Given the description of an element on the screen output the (x, y) to click on. 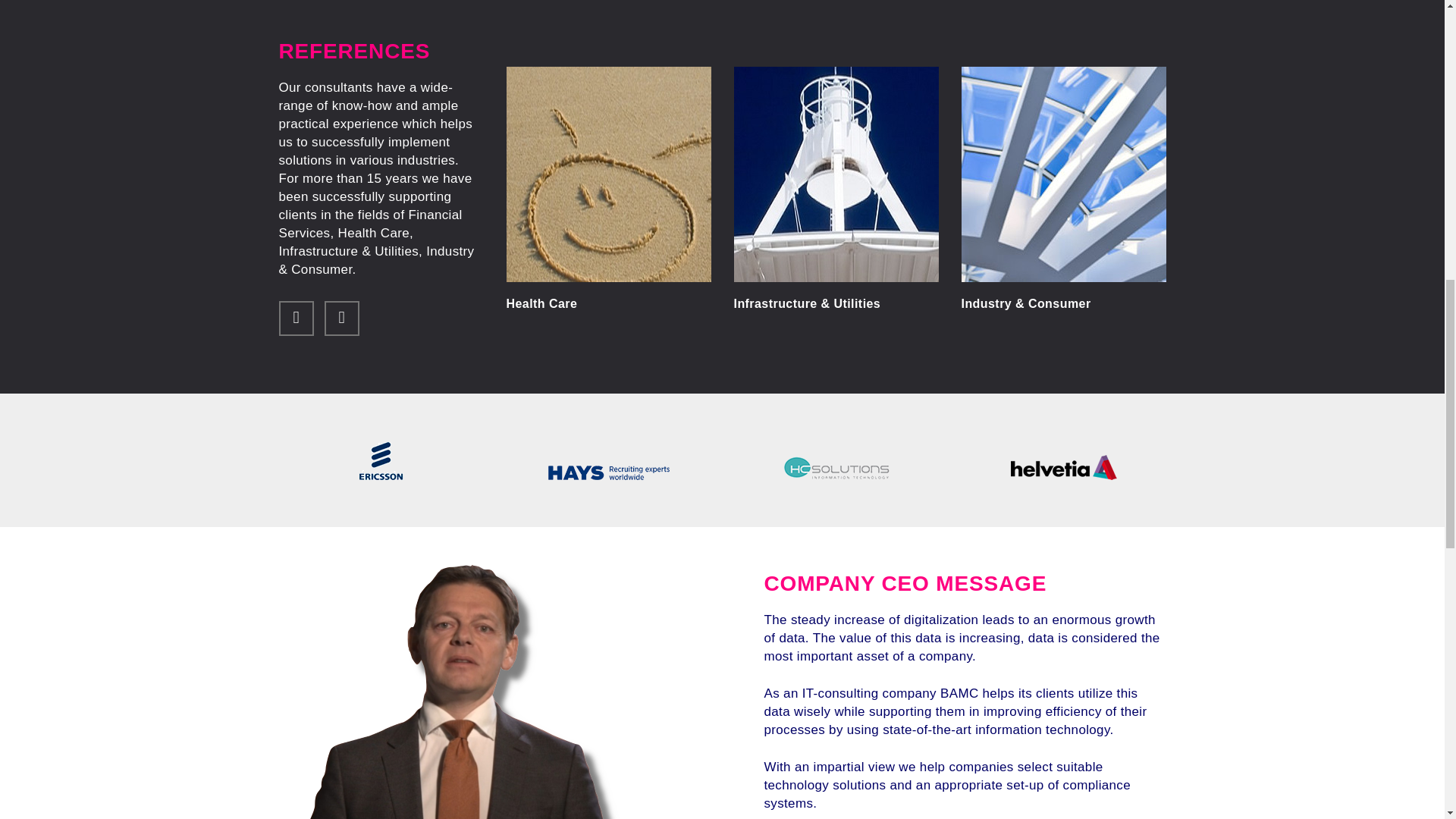
Health Care (608, 299)
